Given the description of an element on the screen output the (x, y) to click on. 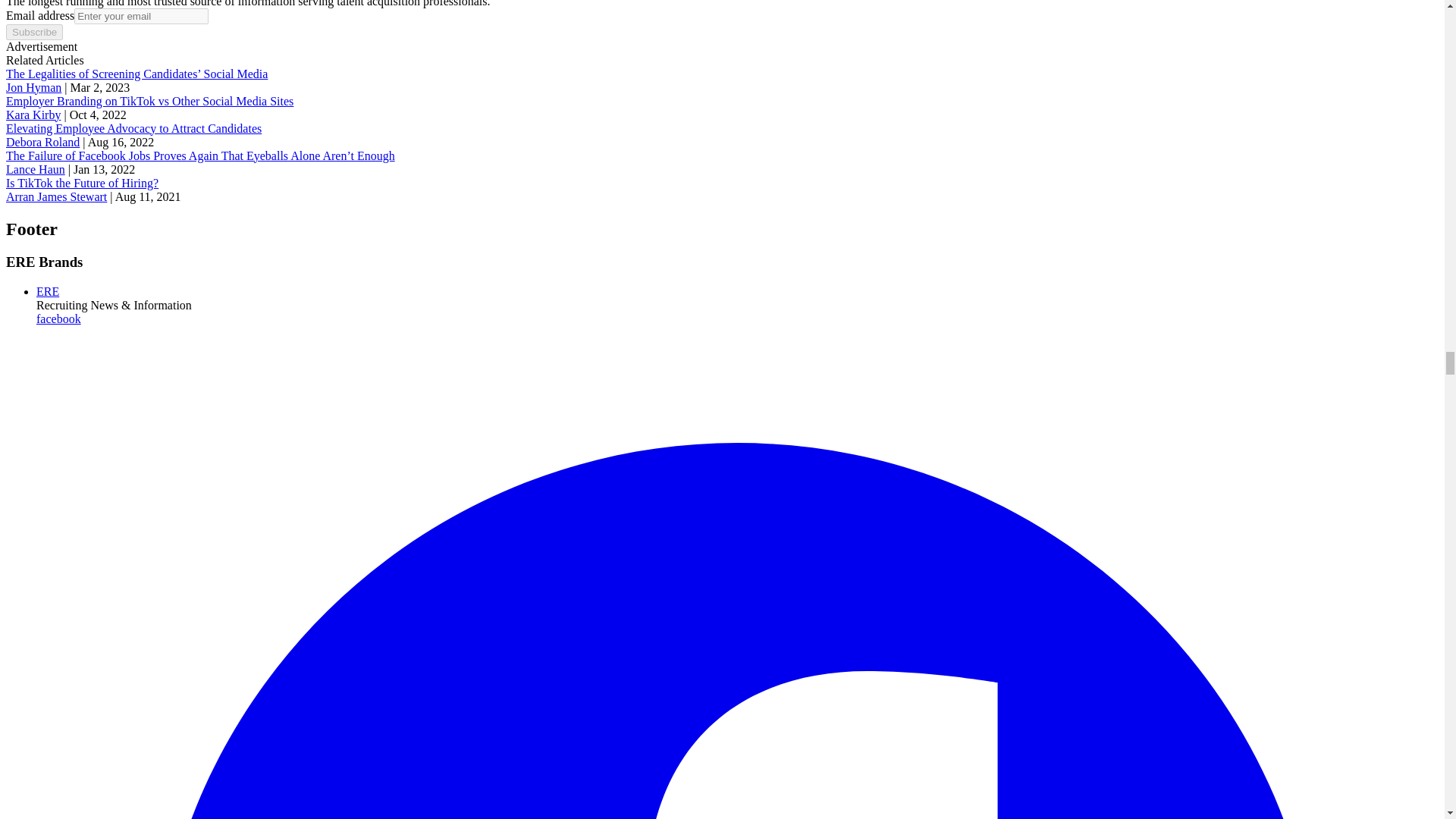
Subscribe (33, 32)
Kara Kirby (33, 114)
Lance Haun (35, 169)
Employer Branding on TikTok vs Other Social Media Sites (149, 101)
Debora Roland (42, 141)
Jon Hyman (33, 87)
Elevating Employee Advocacy to Attract Candidates (133, 128)
